Given the description of an element on the screen output the (x, y) to click on. 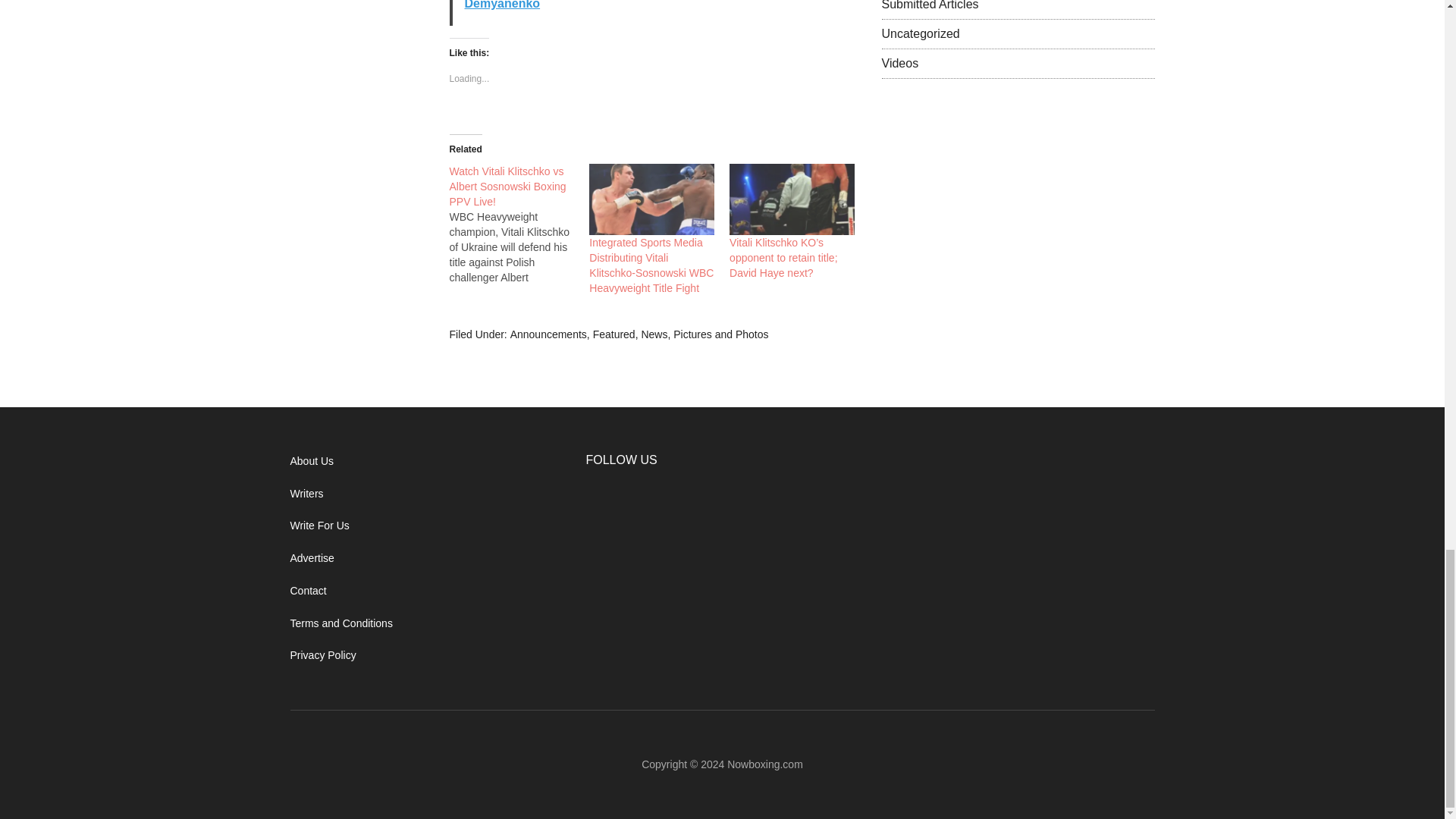
Watch Vitali Klitschko vs Albert Sosnowski Boxing PPV Live! (507, 186)
Watch Vitali Klitschko vs Albert Sosnowski Boxing PPV Live! (518, 224)
Watch Vitali Klitschko vs Albert Sosnowski Boxing PPV Live! (507, 186)
Announcements (548, 334)
Featured (613, 334)
Pictures and Photos (720, 334)
News (653, 334)
